Given the description of an element on the screen output the (x, y) to click on. 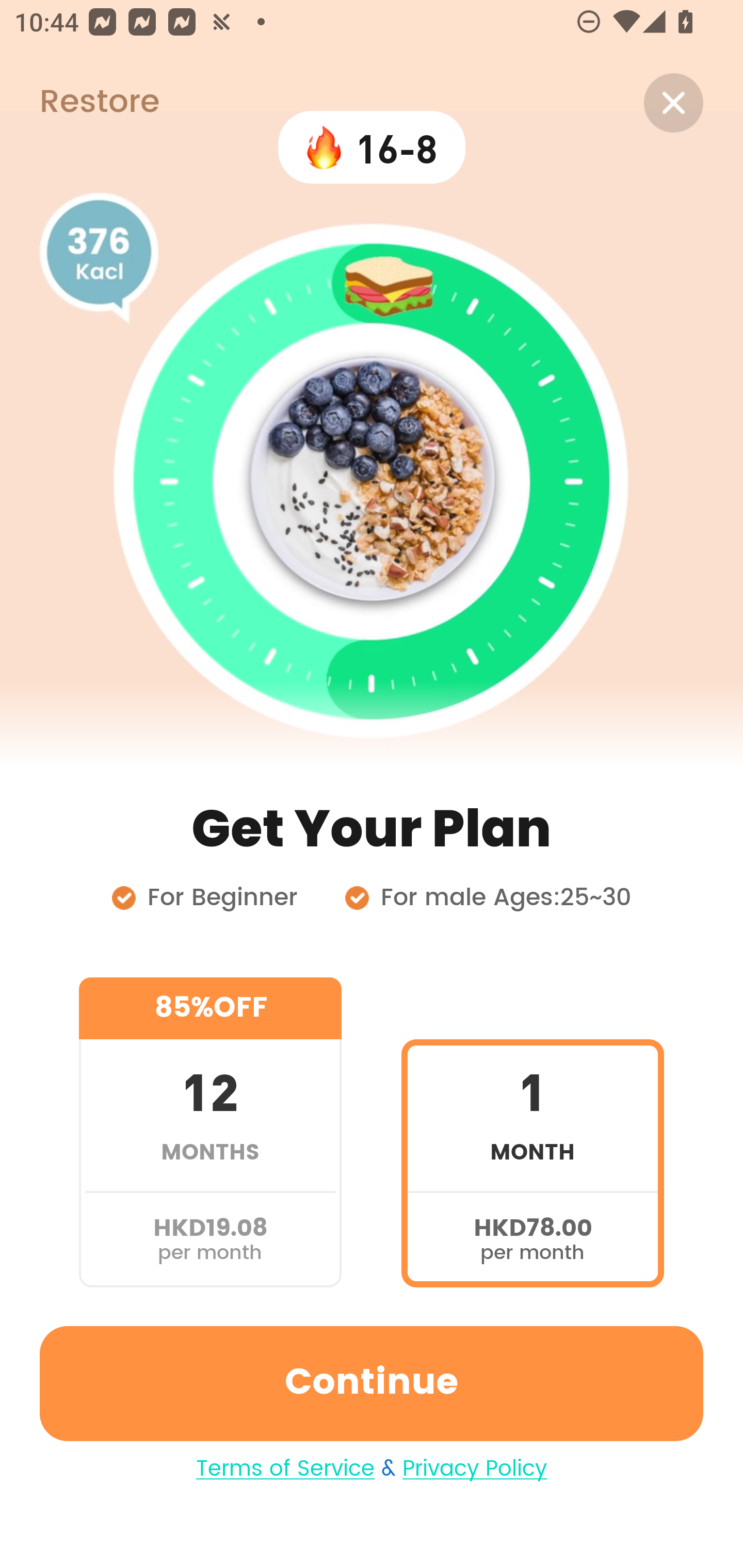
Restore (79, 102)
85%OFF 12 MONTHS per month HKD19.08 (209, 1131)
1 MONTH per month HKD78.00 (532, 1131)
Continue (371, 1383)
